Given the description of an element on the screen output the (x, y) to click on. 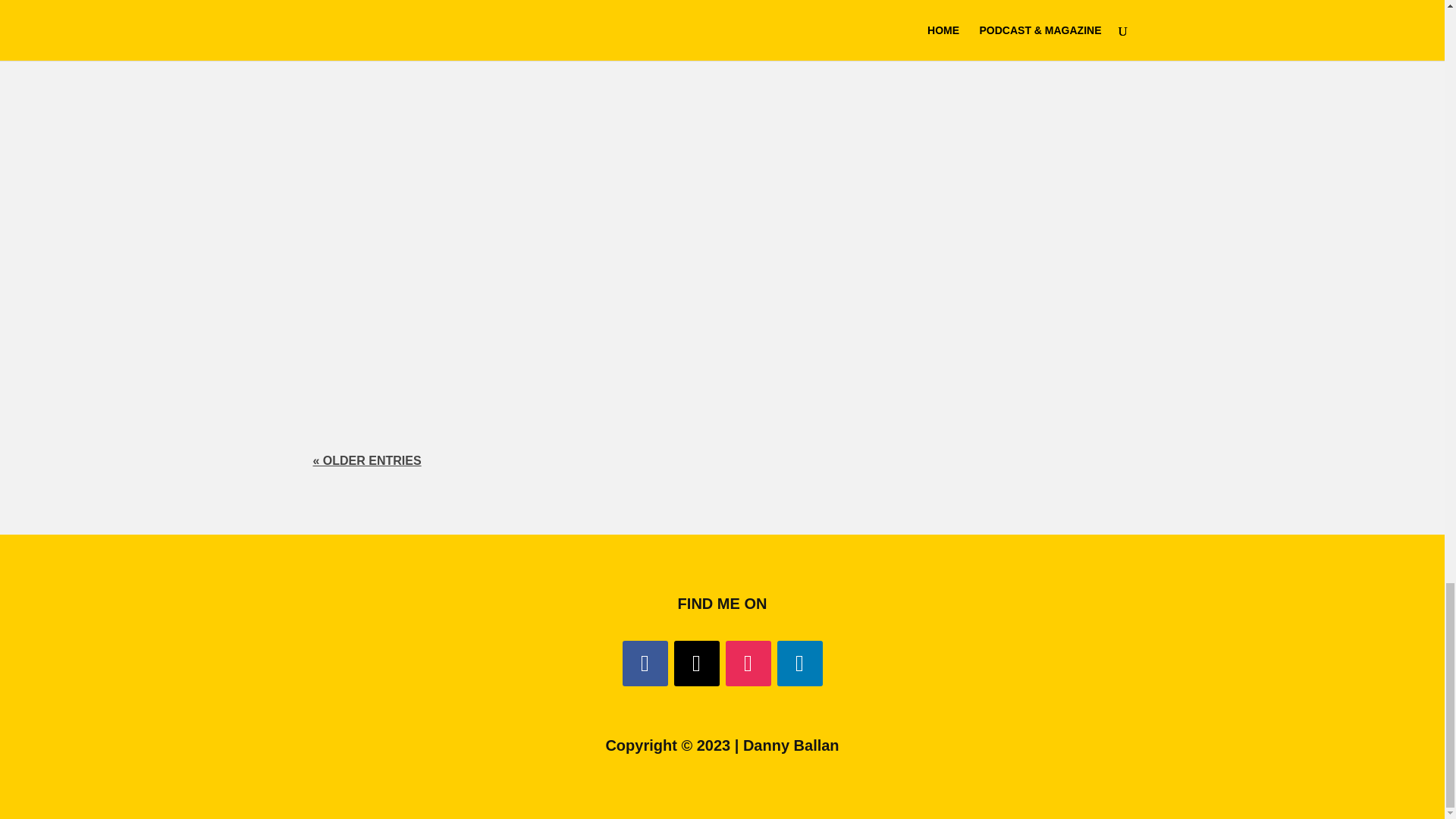
Follow on Instagram (747, 663)
Follow on Facebook (643, 663)
Follow on LinkedIn (799, 663)
Follow on X (695, 663)
